Given the description of an element on the screen output the (x, y) to click on. 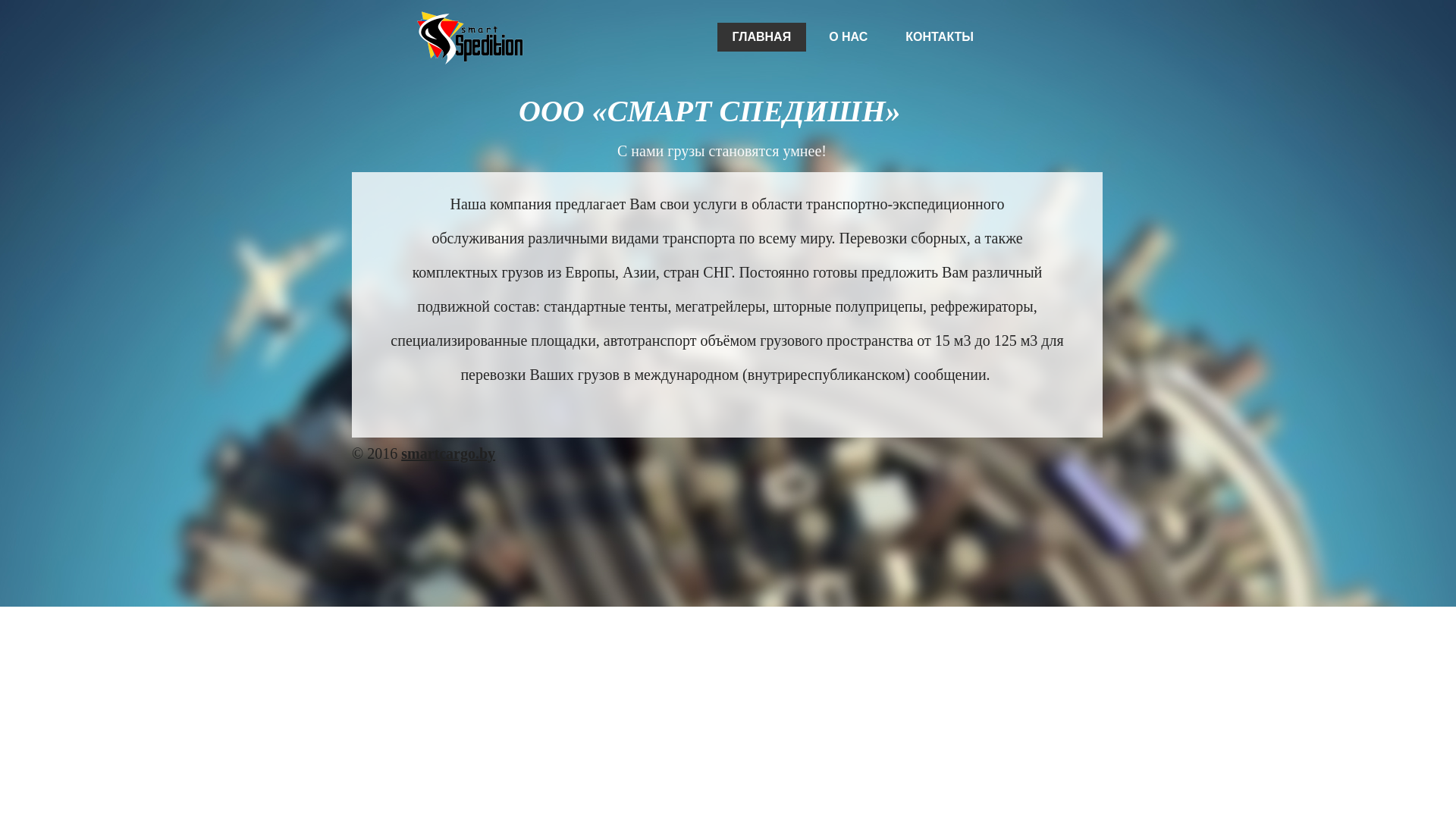
smartcargo.by Element type: text (448, 453)
